Given the description of an element on the screen output the (x, y) to click on. 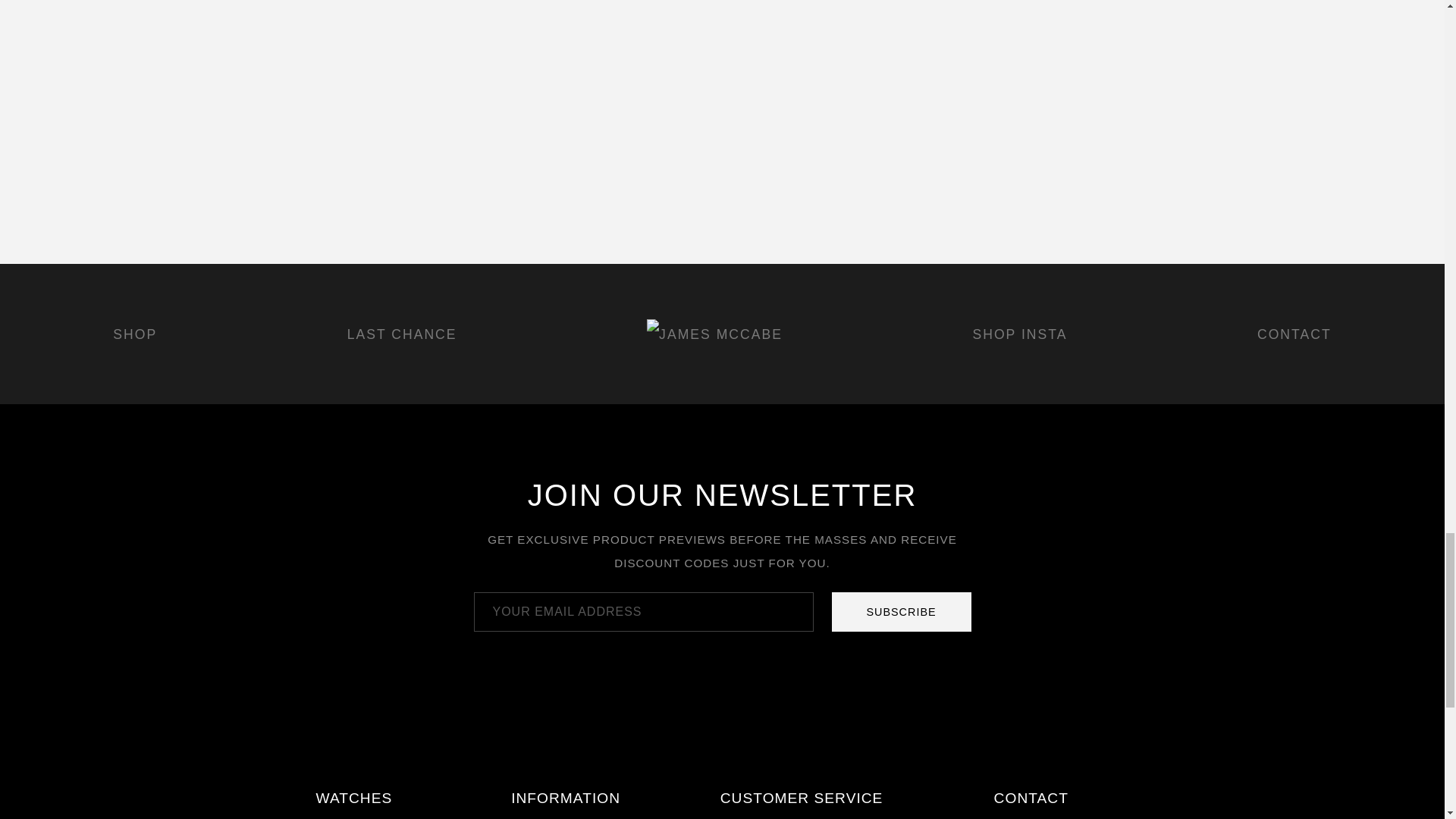
SHOP INSTA (1019, 334)
SHOP (135, 334)
CONTACT (1294, 334)
LAST CHANCE (402, 334)
SUBSCRIBE (901, 611)
